Given the description of an element on the screen output the (x, y) to click on. 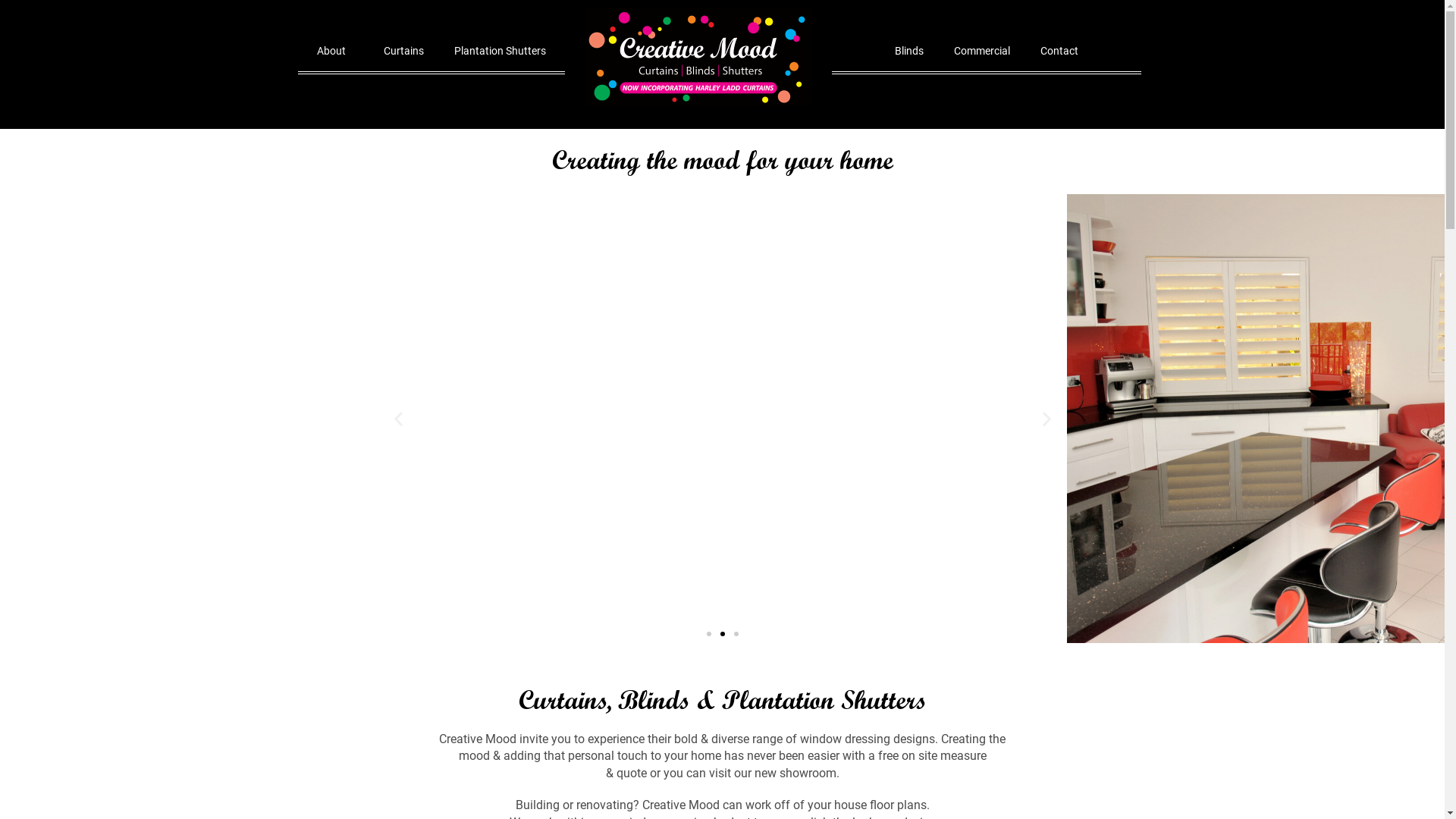
About Element type: text (334, 50)
Curtains Element type: text (403, 50)
Contact Element type: text (1059, 50)
Blinds Element type: text (908, 50)
Commercial Element type: text (981, 50)
Plantation Shutters Element type: text (500, 50)
